Given the description of an element on the screen output the (x, y) to click on. 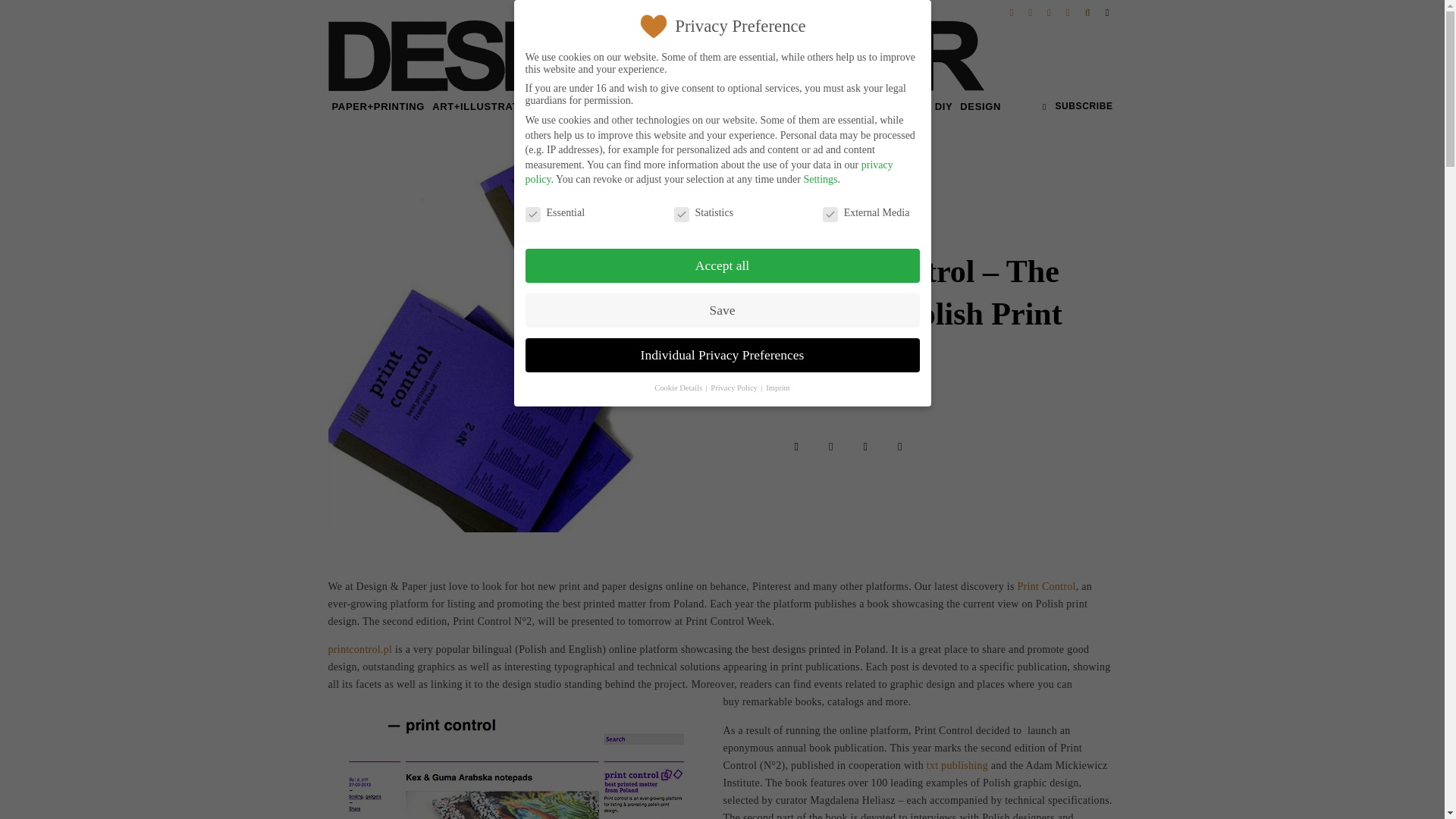
INSIGHTS (605, 106)
TYPE (558, 106)
txt publishing (958, 765)
